Given the description of an element on the screen output the (x, y) to click on. 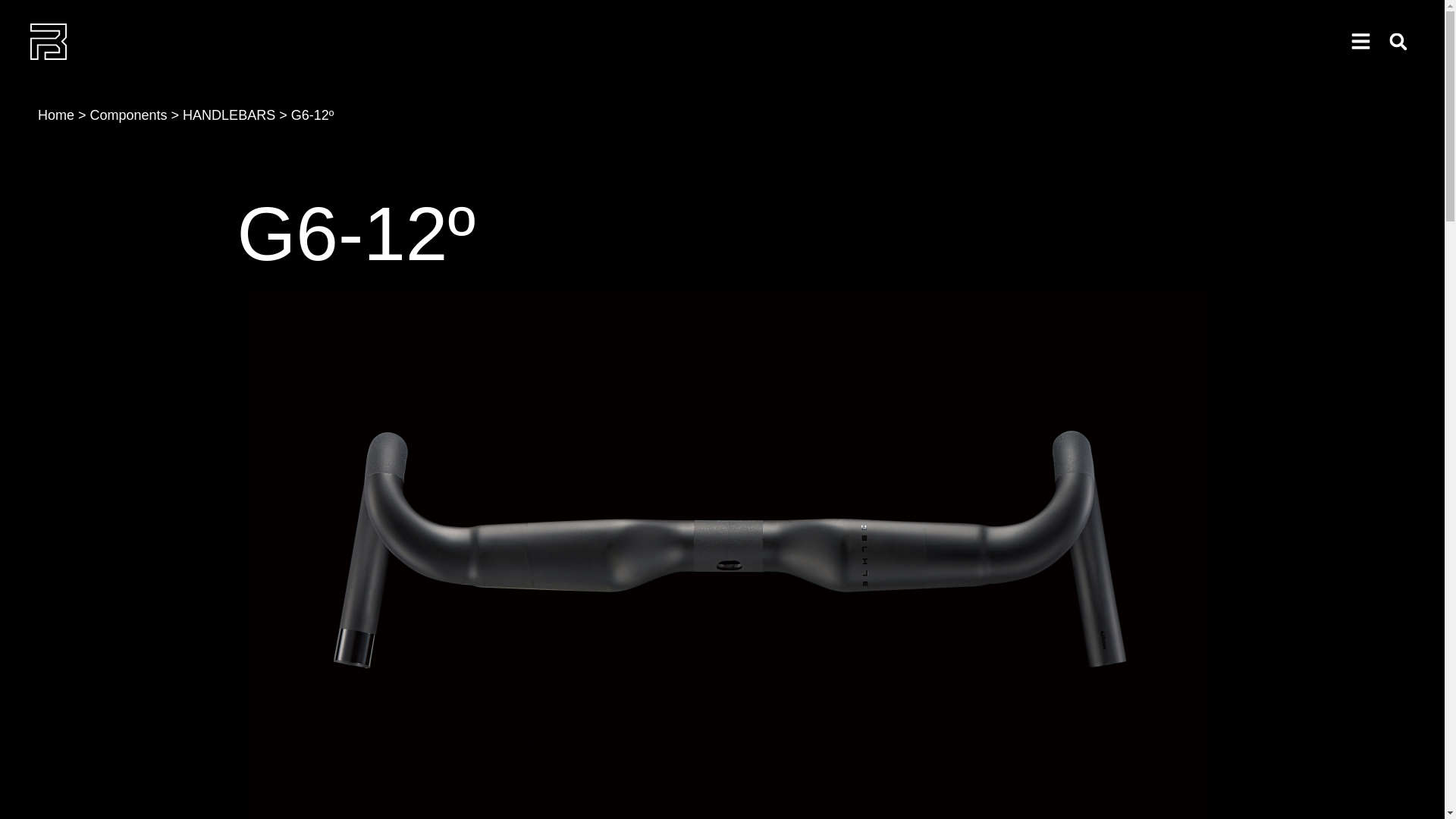
Home (55, 114)
Components (128, 114)
HANDLEBARS (229, 114)
